Given the description of an element on the screen output the (x, y) to click on. 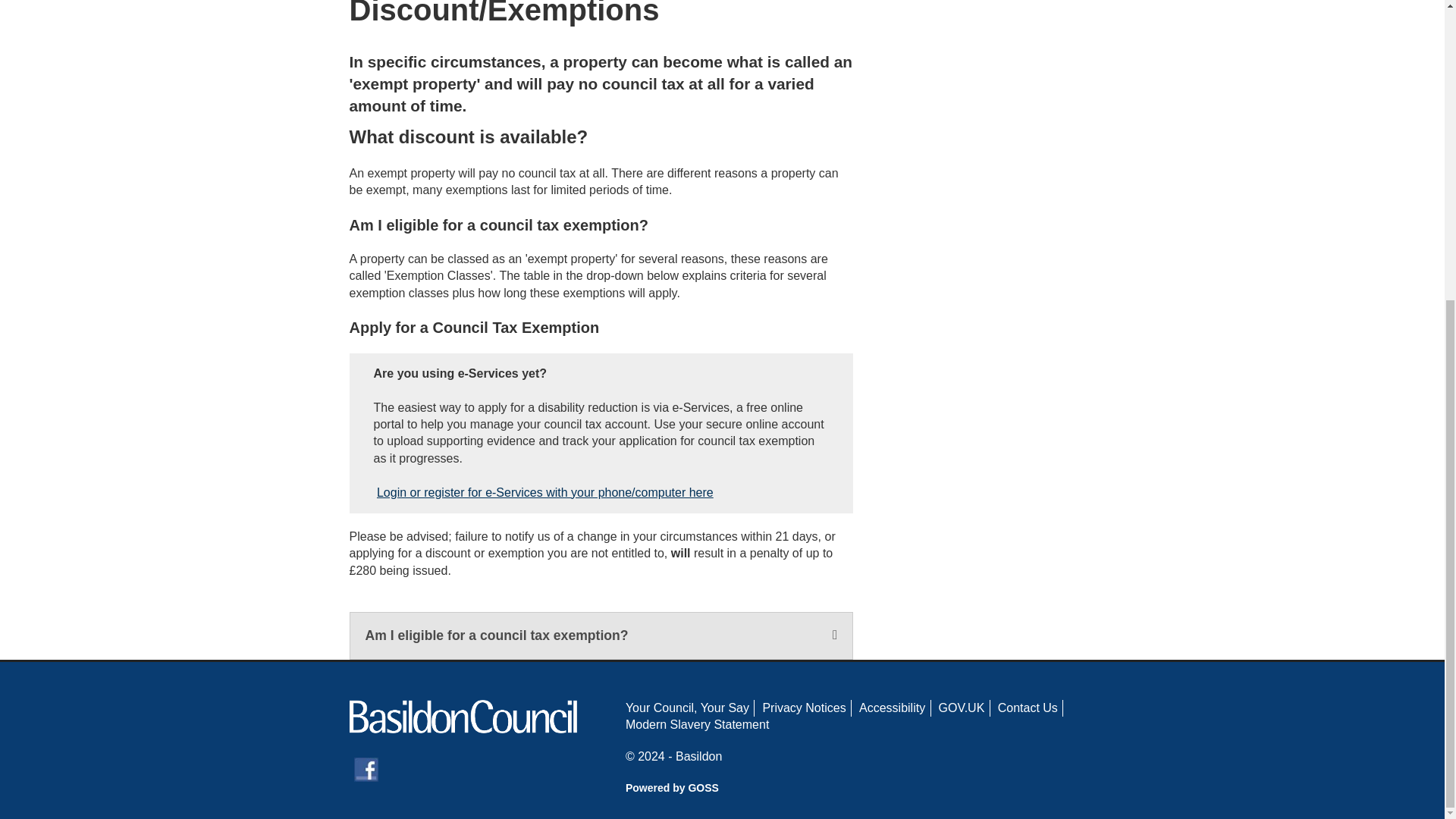
Basildon Council on Facebook (365, 769)
